Given the description of an element on the screen output the (x, y) to click on. 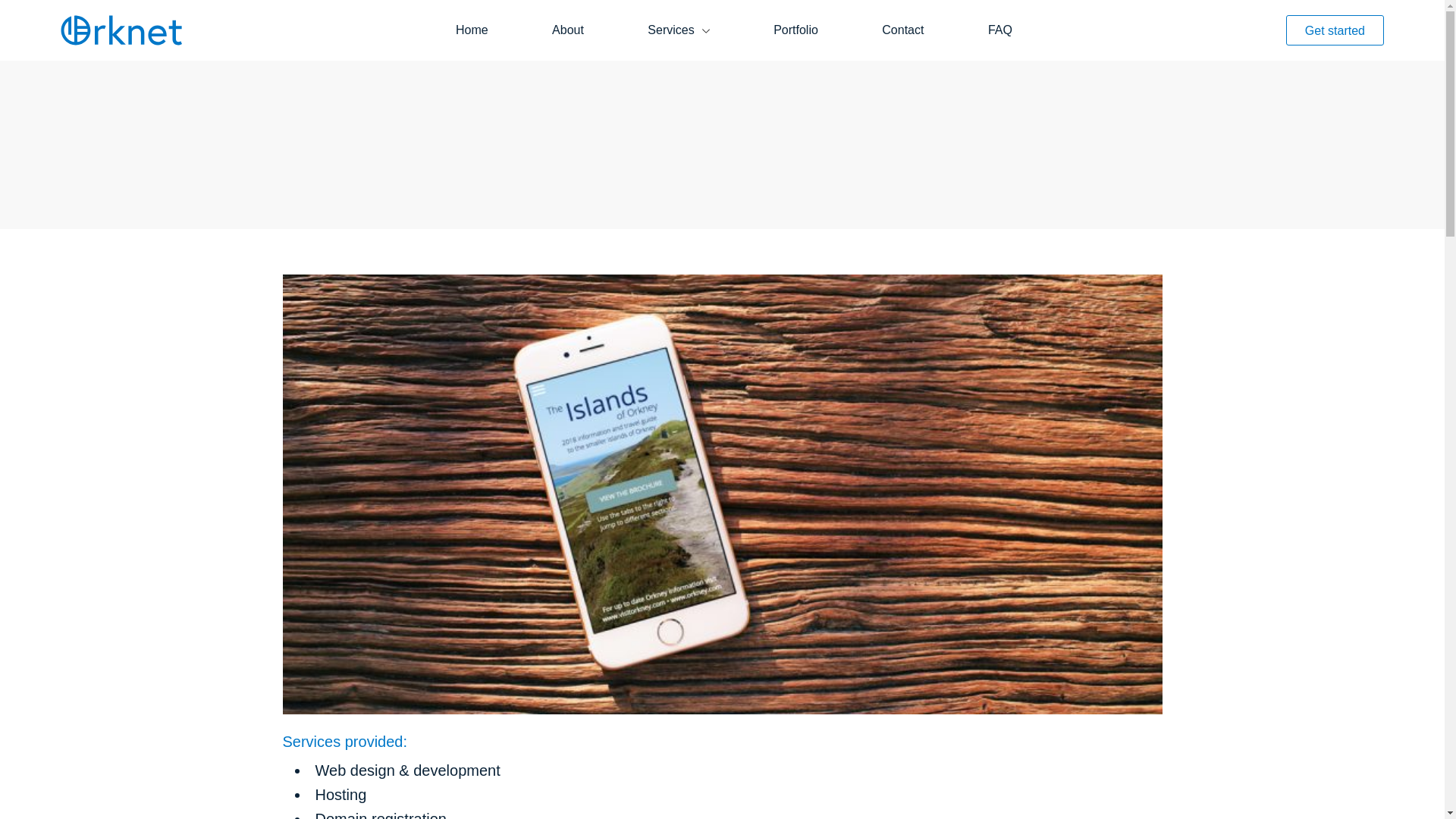
Home (471, 29)
Get started (1334, 30)
FAQ (999, 29)
Contact (902, 29)
Portfolio (795, 29)
Services (678, 29)
About (567, 29)
